Given the description of an element on the screen output the (x, y) to click on. 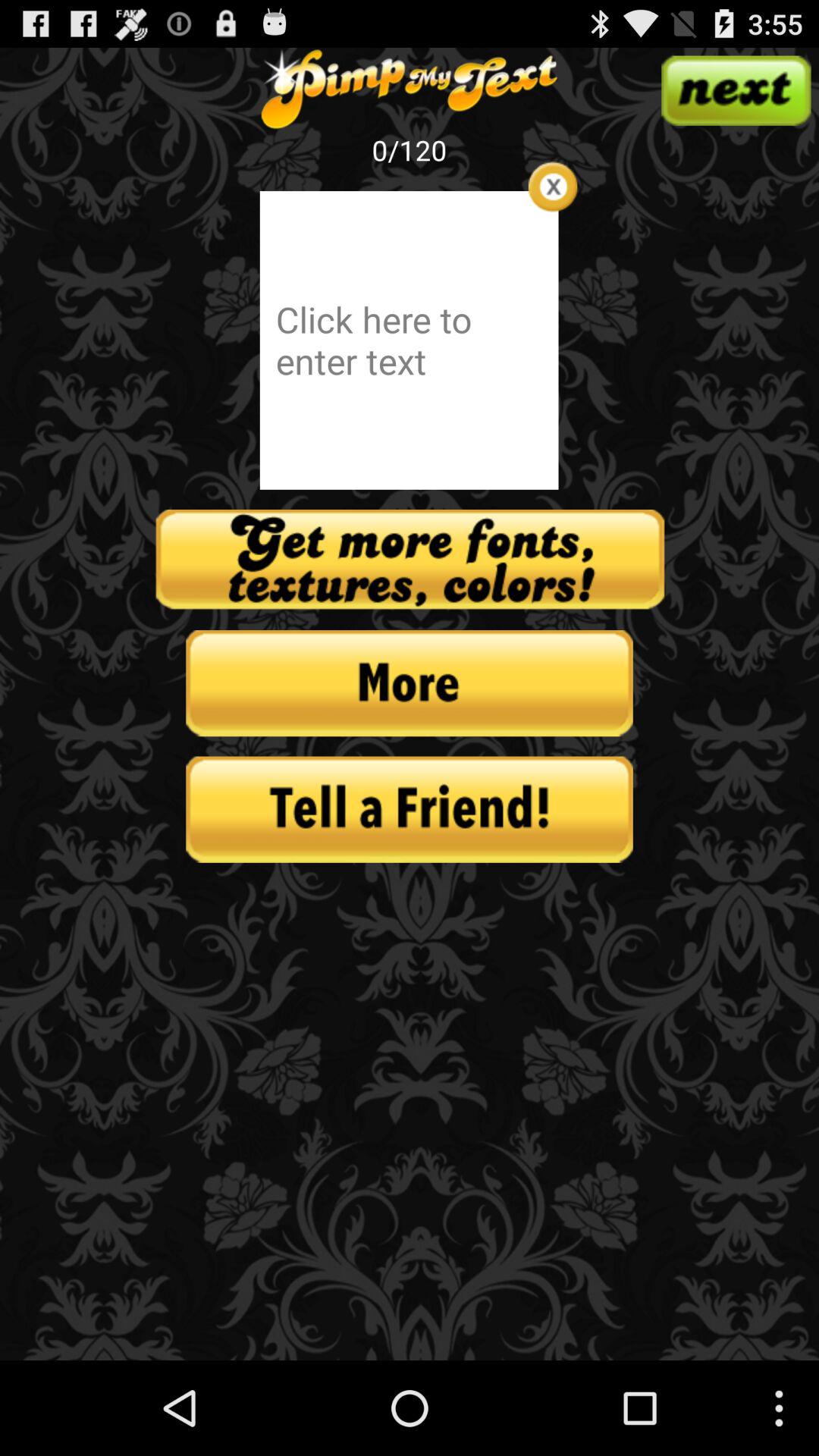
close text box (552, 186)
